Given the description of an element on the screen output the (x, y) to click on. 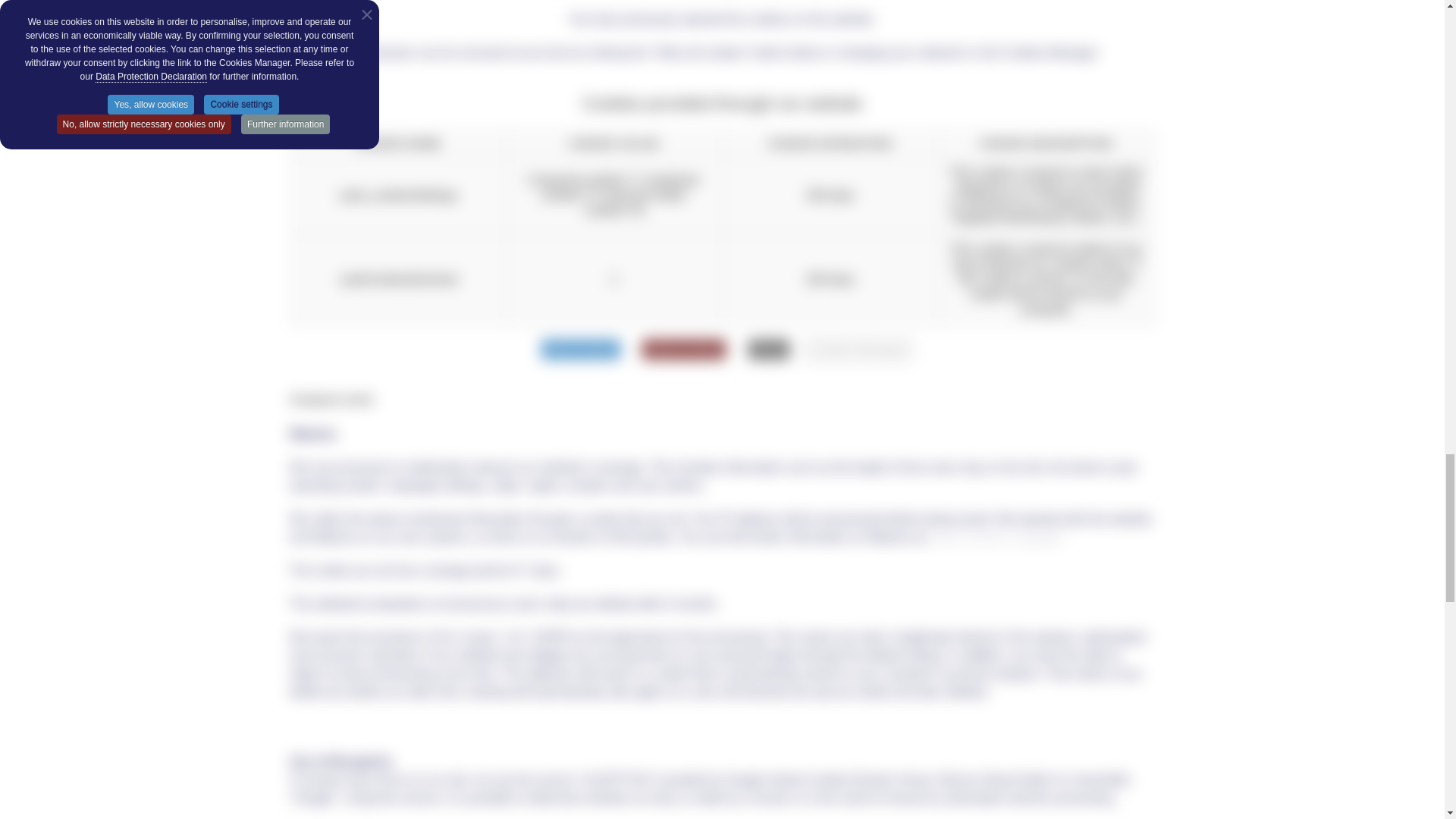
Delete all cookies (683, 349)
Allow all cookies (580, 349)
Reload (768, 349)
Cookies Manager (857, 348)
